Given the description of an element on the screen output the (x, y) to click on. 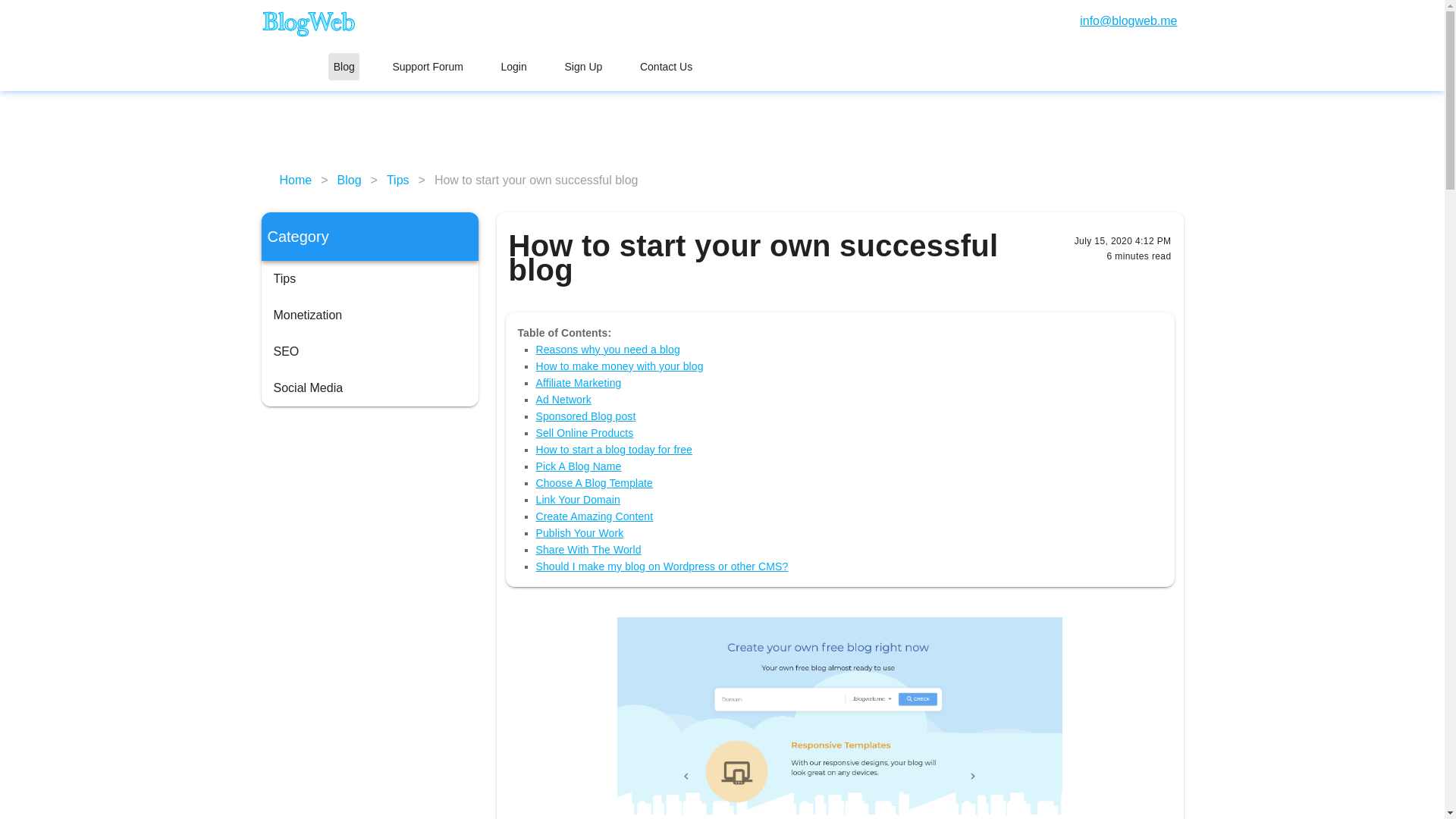
SEO (368, 351)
Ad Network (563, 399)
Login (513, 66)
Contact Us (665, 66)
Social Media (368, 388)
Share With The World (587, 549)
How to make money with your blog (512, 66)
Blog (619, 366)
Tips (342, 66)
How to start a blog today for free (398, 180)
Publish Your Work (614, 449)
Sponsored Blog post (579, 532)
Sell Online Products (584, 416)
Sign Up (584, 432)
